Given the description of an element on the screen output the (x, y) to click on. 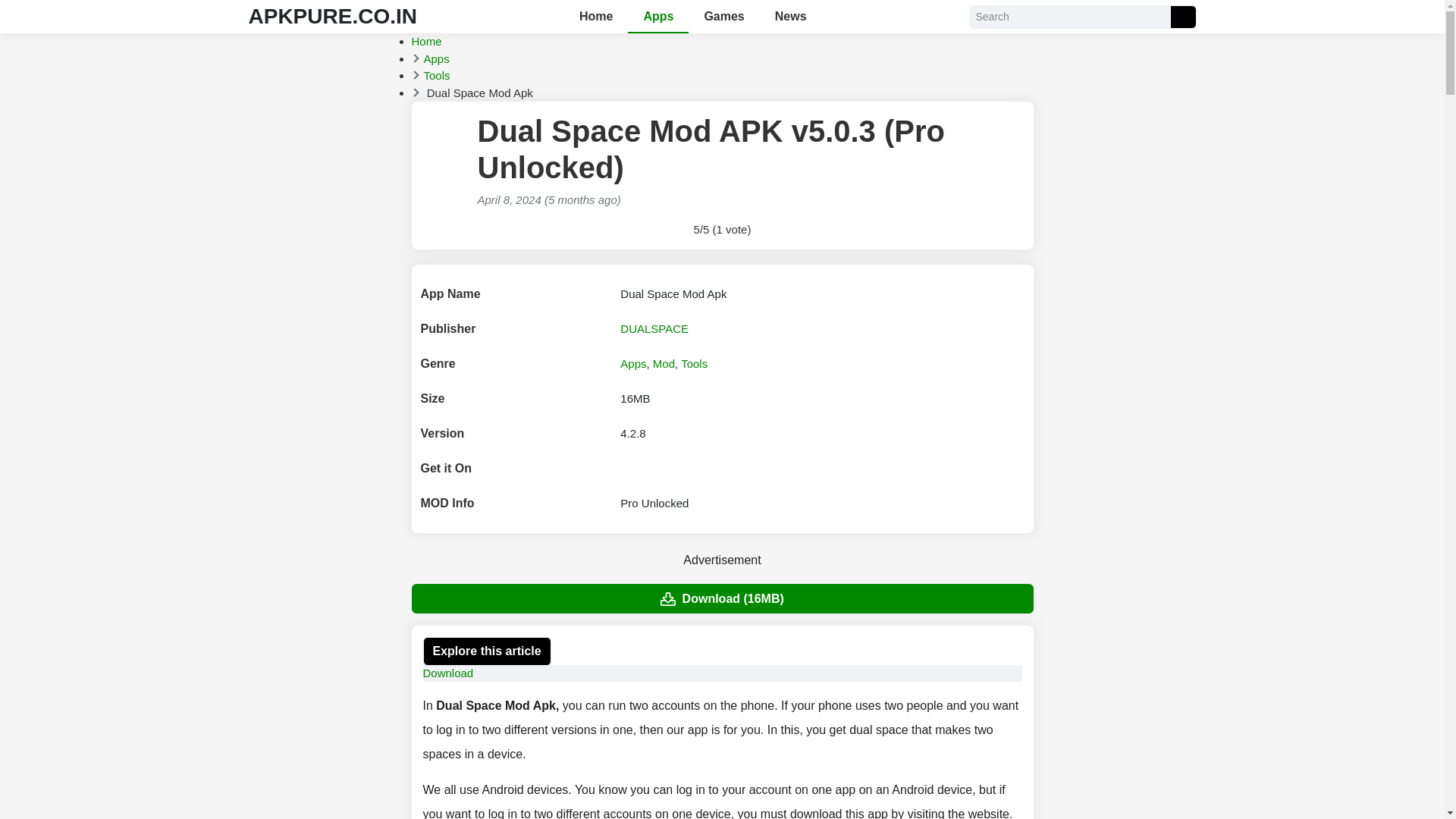
Home (425, 41)
Tools (694, 363)
Home (425, 41)
DUALSPACE (654, 328)
Tools (436, 74)
Home (595, 16)
Mod (663, 363)
Games (723, 16)
Apps (435, 57)
Explore this article (487, 651)
